Given the description of an element on the screen output the (x, y) to click on. 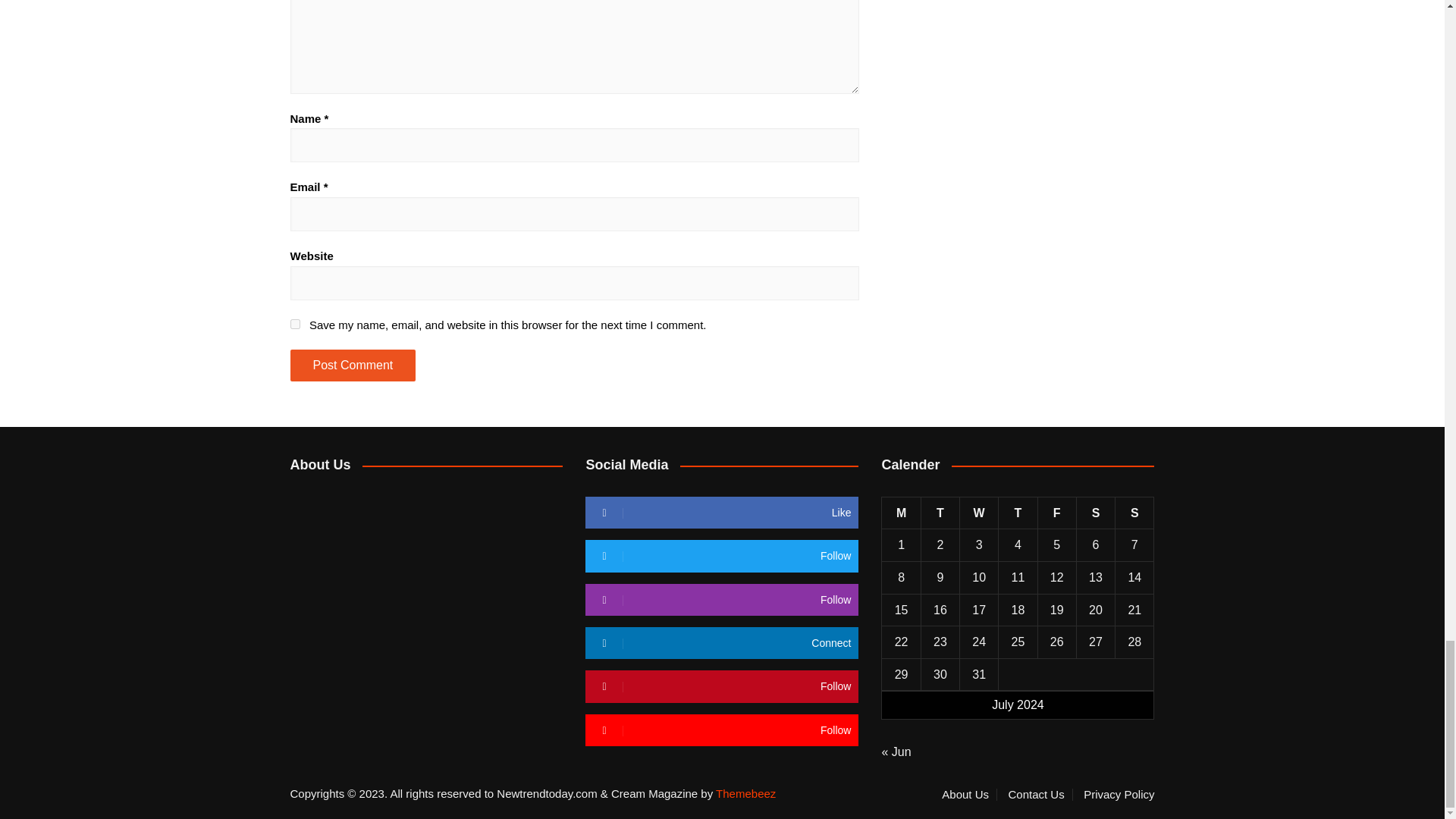
Sunday (1134, 512)
Tuesday (939, 512)
Wednesday (978, 512)
yes (294, 324)
Thursday (1017, 512)
Friday (1055, 512)
Post Comment (351, 365)
Saturday (1095, 512)
Monday (901, 512)
